Given the description of an element on the screen output the (x, y) to click on. 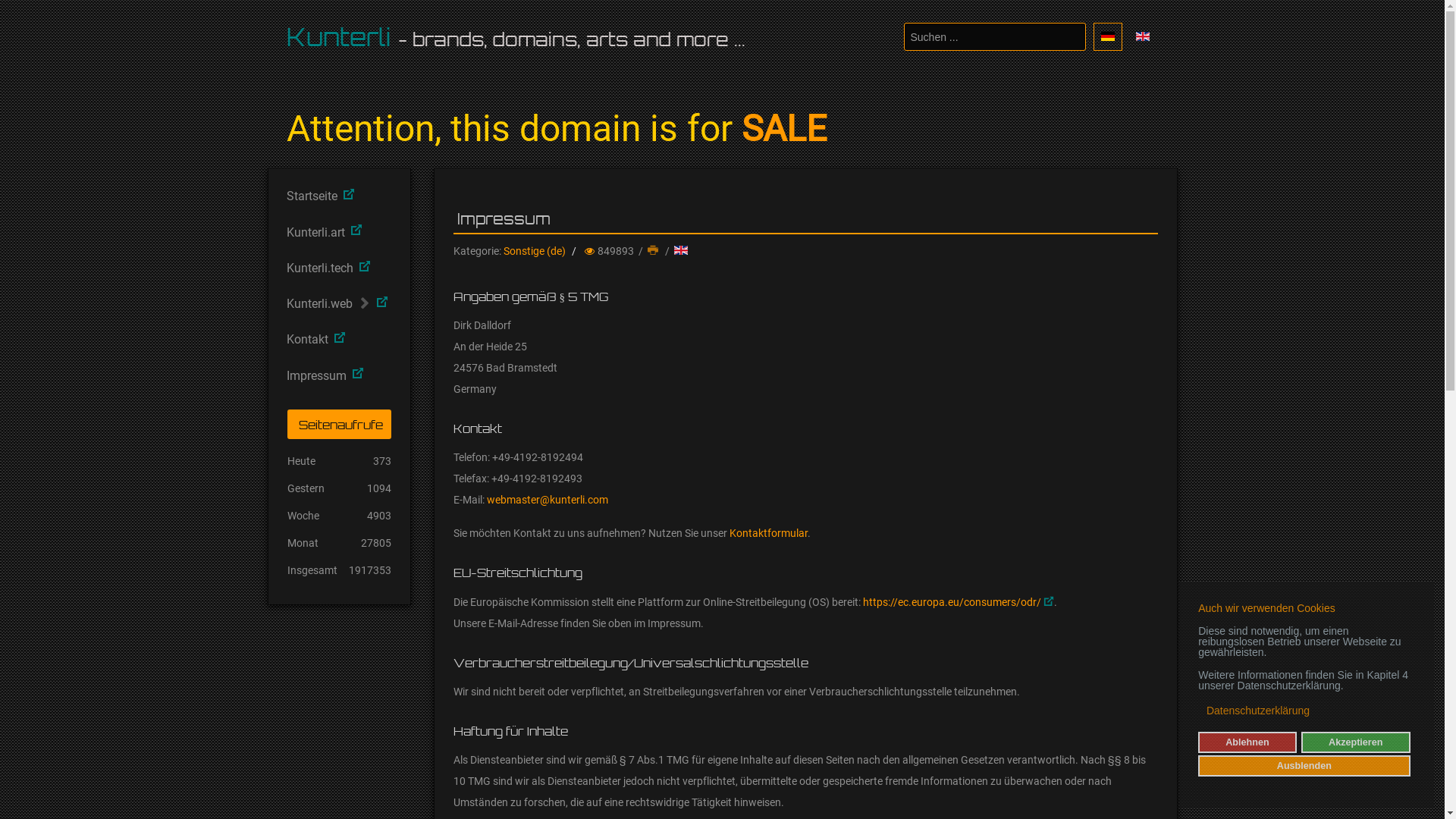
Sonstige (de) Element type: text (534, 250)
https://ec.europa.eu/consumers/odr/ Element type: text (958, 602)
Kunterli Element type: text (338, 36)
English (United Kingdom) Element type: hover (1142, 35)
Kunterli.web Element type: text (338, 300)
Kunterli.art Element type: text (338, 229)
Startseite Element type: text (338, 193)
Ausblenden Element type: text (1303, 765)
Kontakt Element type: text (338, 336)
Kunterli.tech Element type: text (338, 264)
Ablehnen Element type: text (1247, 742)
Eintrag ausdrucken < Impressum > Element type: hover (654, 250)
Kontaktformular Element type: text (768, 533)
English (United Kingdom) Element type: hover (680, 249)
Akzeptieren Element type: text (1355, 742)
Impressum Element type: text (338, 372)
Deutsch (Deutschland) Element type: hover (1107, 35)
